Given the description of an element on the screen output the (x, y) to click on. 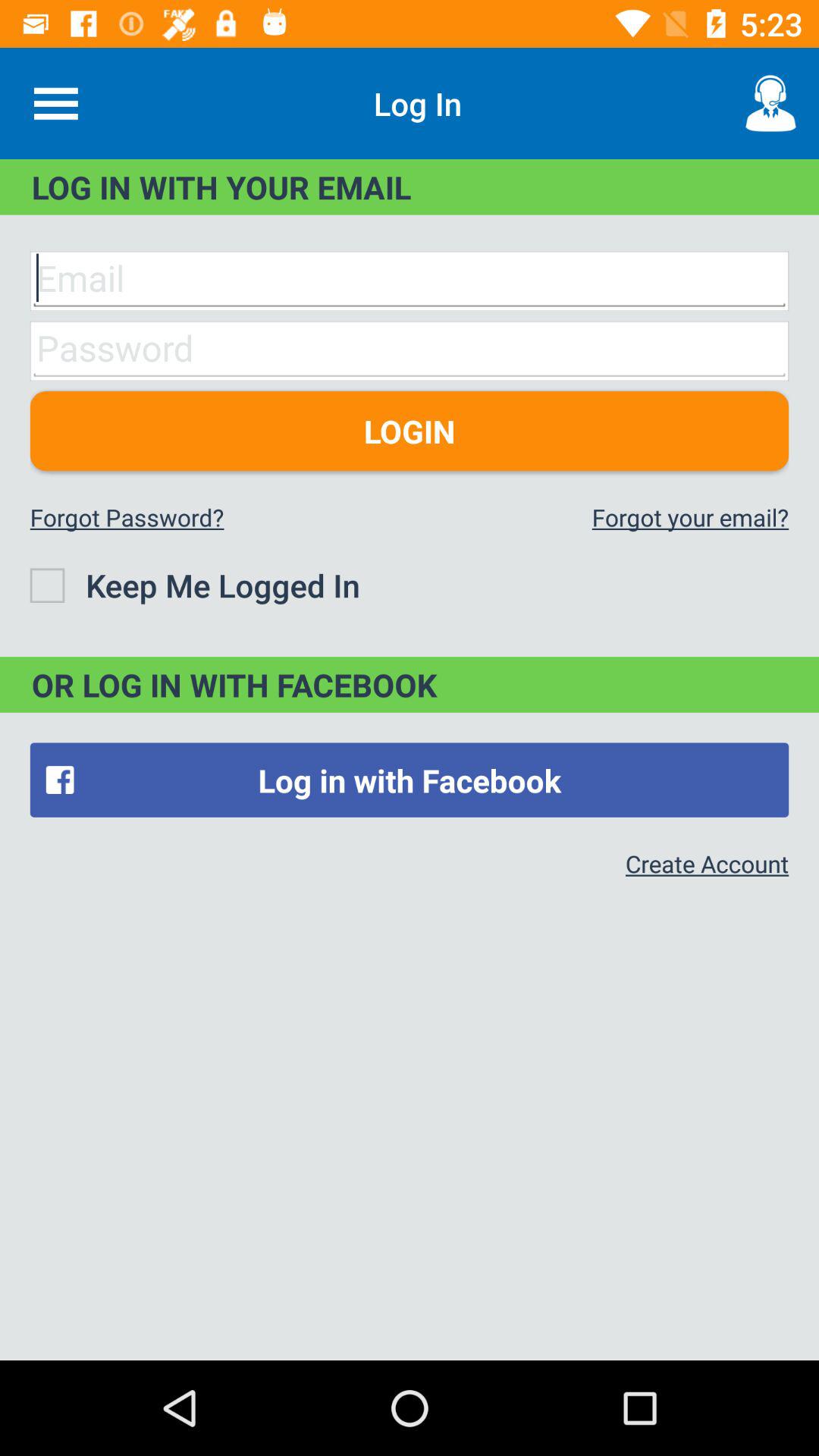
turn off the item at the top left corner (55, 103)
